Given the description of an element on the screen output the (x, y) to click on. 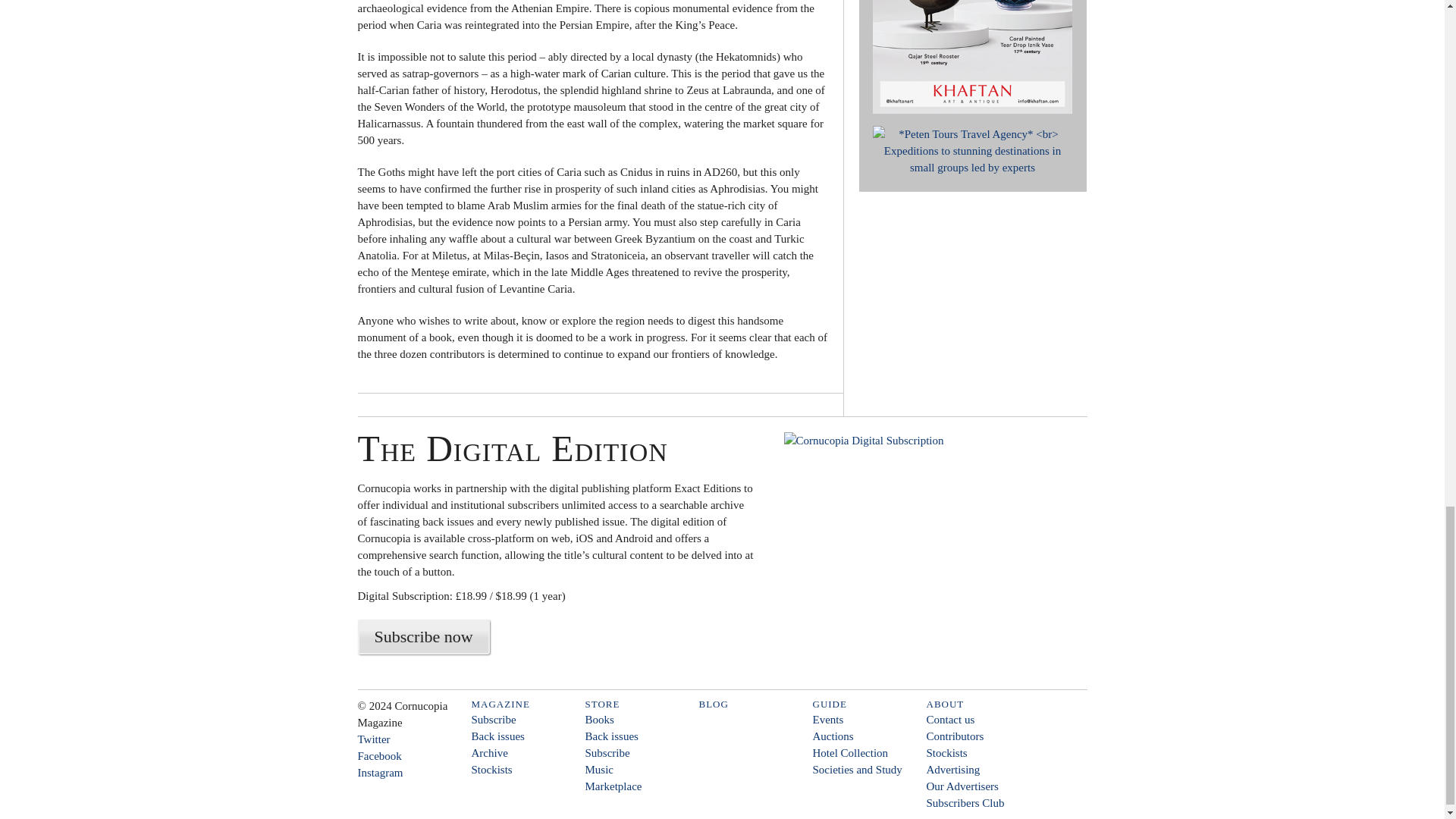
Cornucopia Digital Subscription (920, 551)
